Given the description of an element on the screen output the (x, y) to click on. 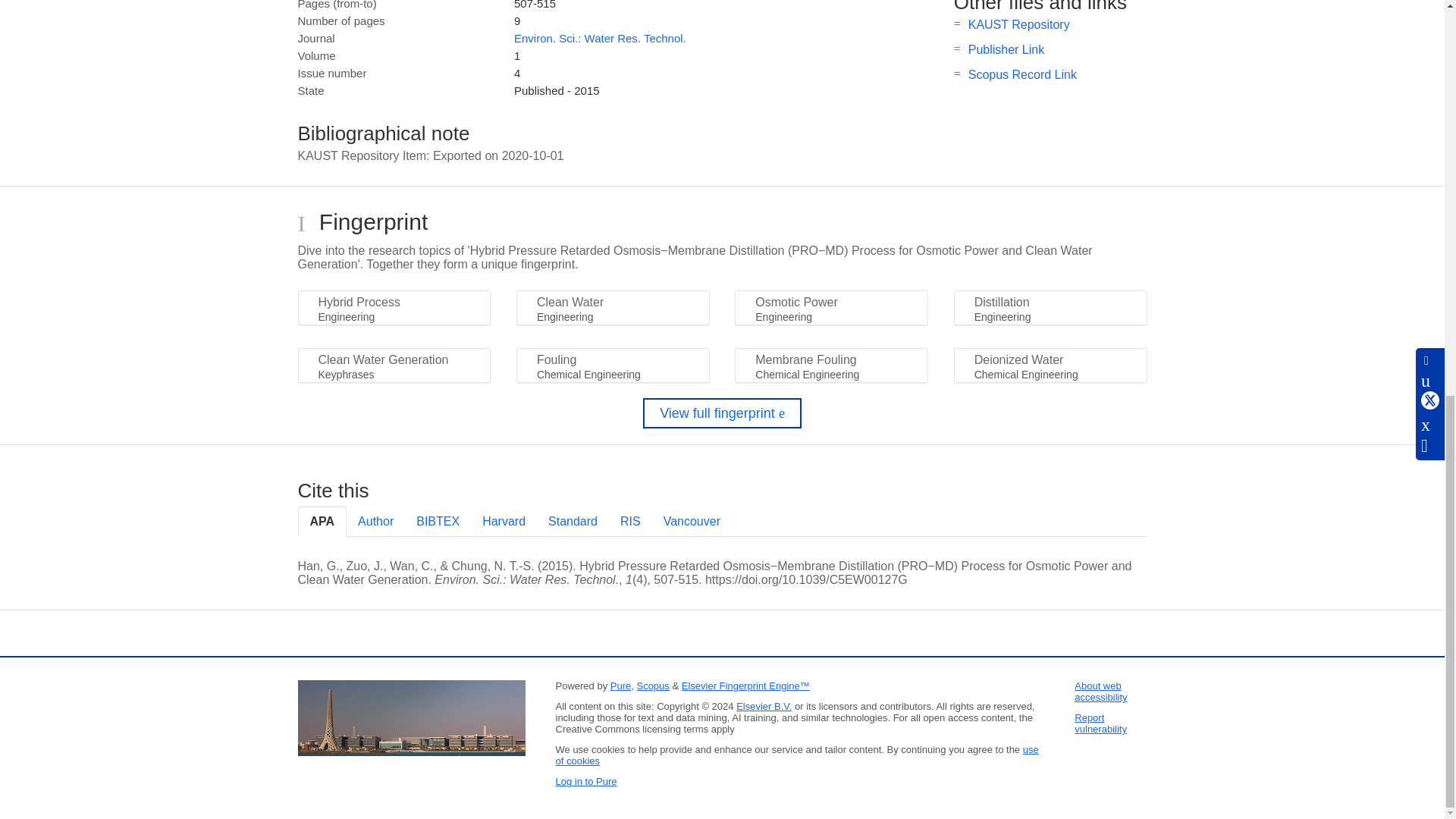
KAUST Repository (1019, 24)
View full fingerprint (722, 413)
Publisher Link (1006, 49)
Scopus Record Link (1022, 74)
Environ. Sci.: Water Res. Technol. (599, 38)
